Given the description of an element on the screen output the (x, y) to click on. 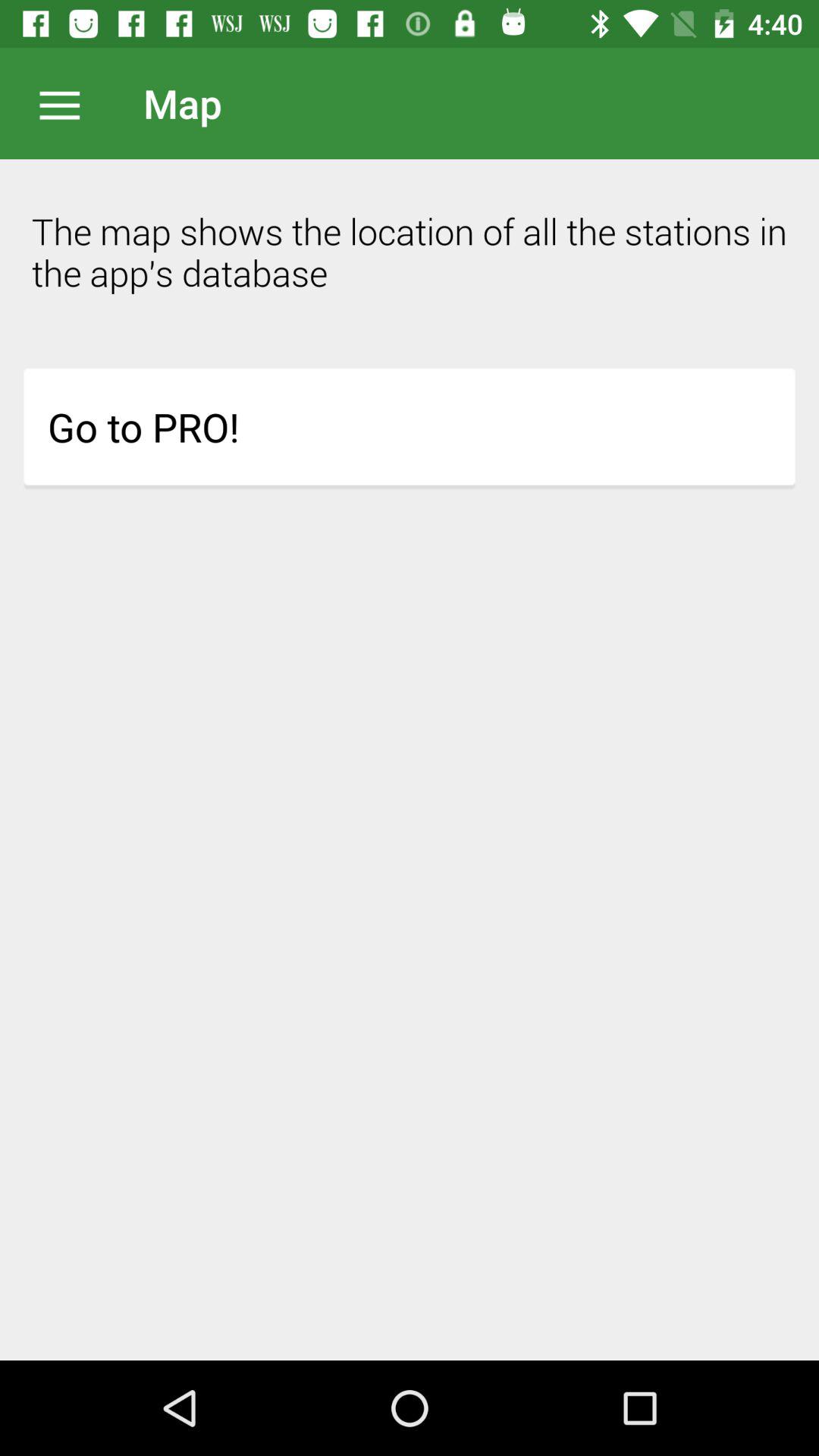
tap the item above the map shows item (67, 103)
